Given the description of an element on the screen output the (x, y) to click on. 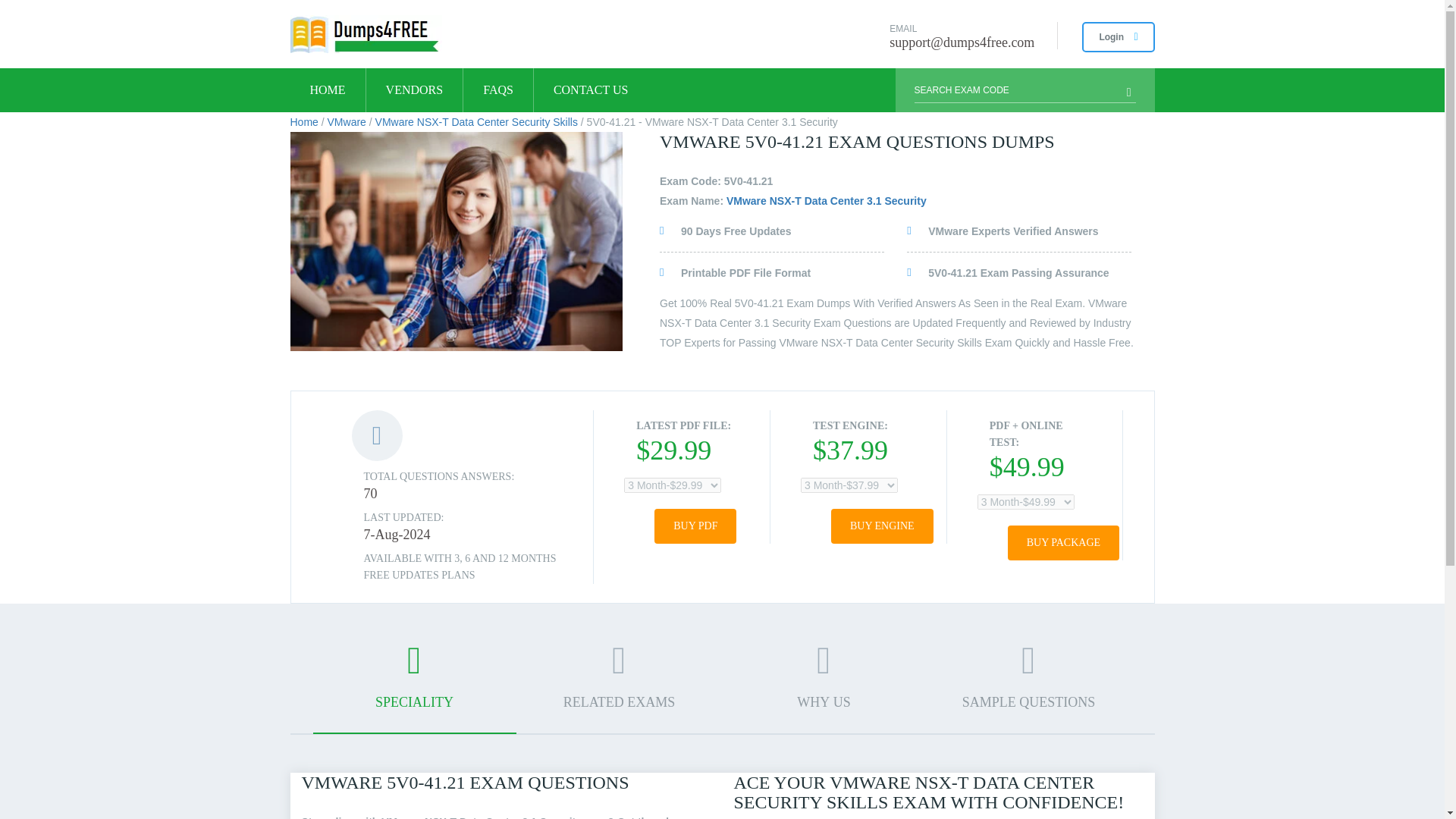
Buy PDF (694, 525)
Buy PDF (694, 525)
CONTACT US (590, 89)
Buy PACKAGE (1063, 542)
VENDORS (414, 89)
FAQS (497, 89)
Buy ENGINE (882, 525)
Home (303, 121)
SPECIALITY (414, 687)
RELATED EXAMS (618, 686)
